Given the description of an element on the screen output the (x, y) to click on. 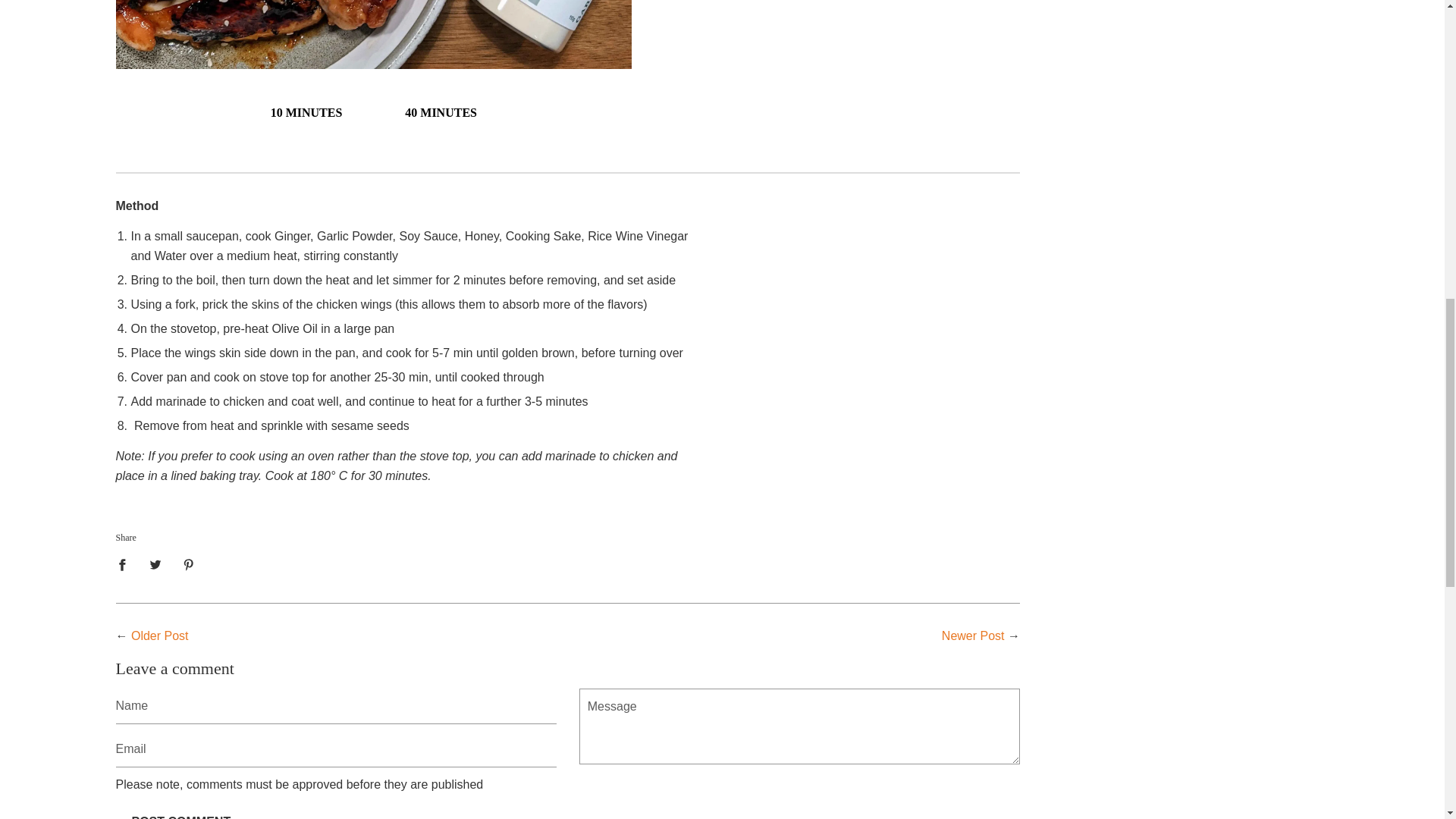
Newer Post (973, 635)
Older Post (160, 635)
Post comment (180, 812)
Post comment (180, 812)
